Given the description of an element on the screen output the (x, y) to click on. 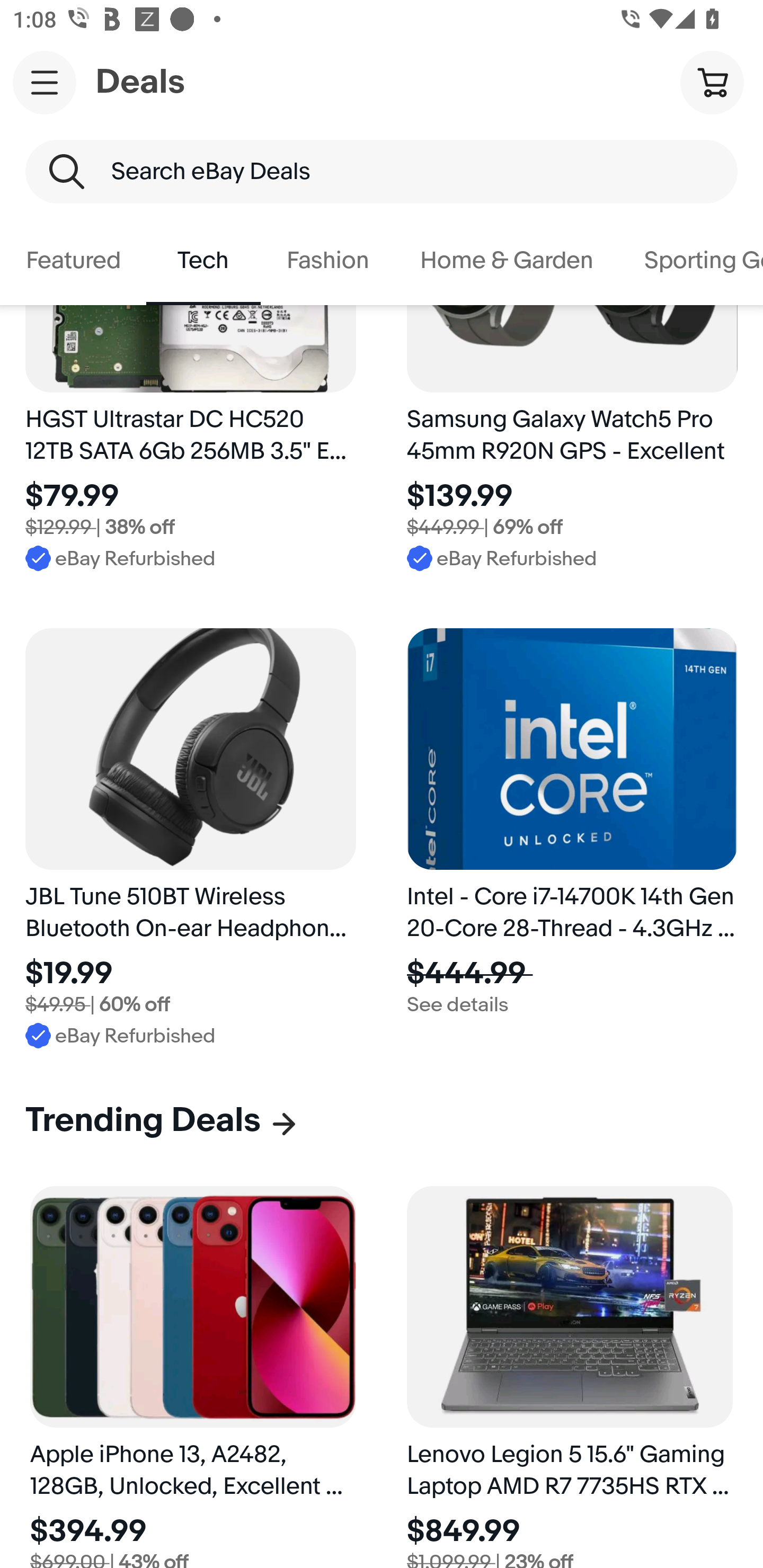
Main navigation, open (44, 82)
Cart button shopping cart (711, 81)
Search eBay Deals Search Keyword Search eBay Deals (381, 171)
Search eBay Deals Search Keyword Search eBay Deals (381, 171)
Featured. Button. 1 of 7. Featured (73, 260)
Fashion. Button. 3 of 7. Fashion (327, 260)
Home & Garden. Button. 4 of 7. Home & Garden (506, 260)
Sporting Goods. Button. 5 of 7. Sporting Goods (690, 260)
Trending Deals   Trending Deals,2 items (162, 1120)
